Given the description of an element on the screen output the (x, y) to click on. 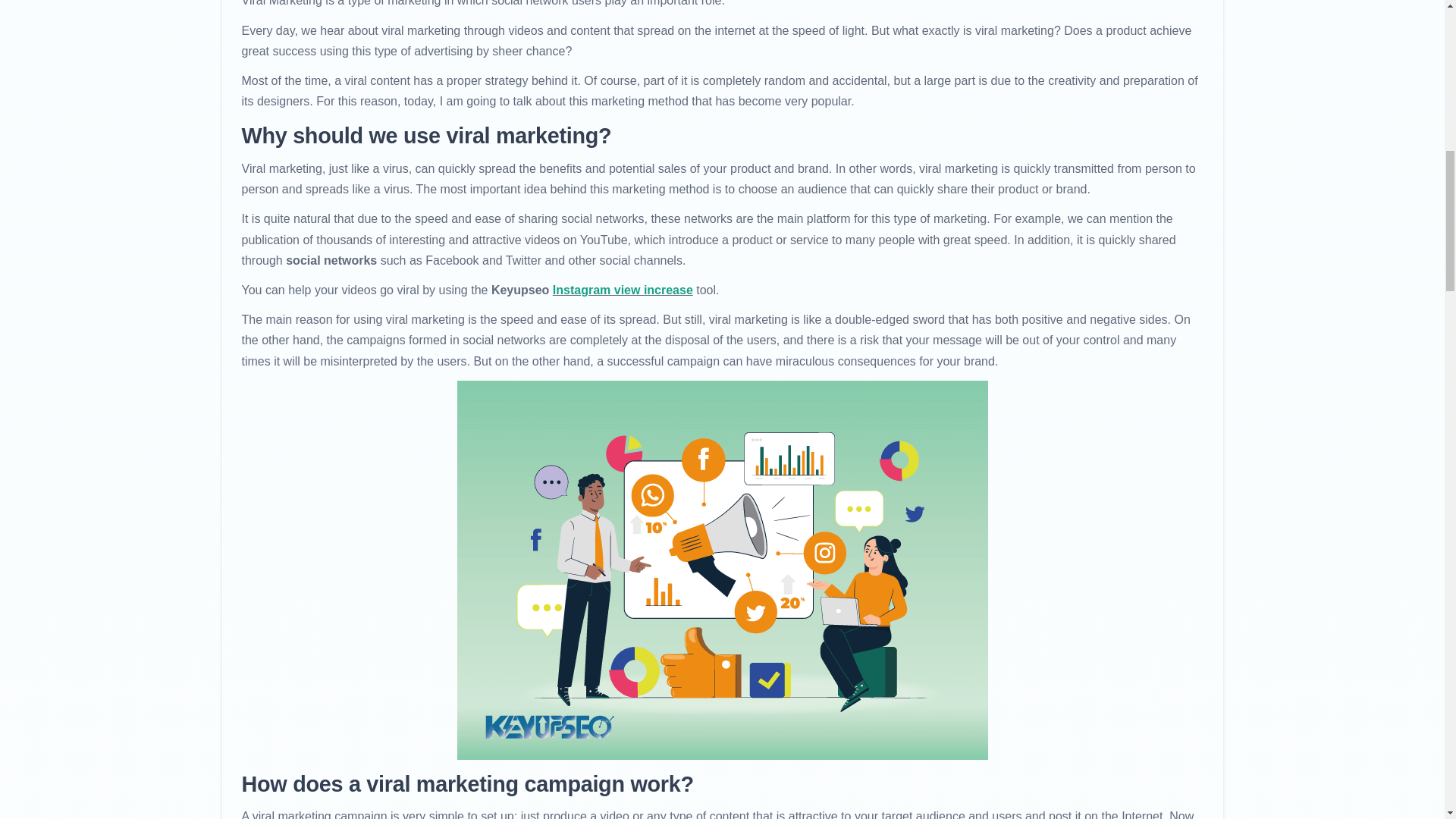
Instagram view increase (623, 289)
